Given the description of an element on the screen output the (x, y) to click on. 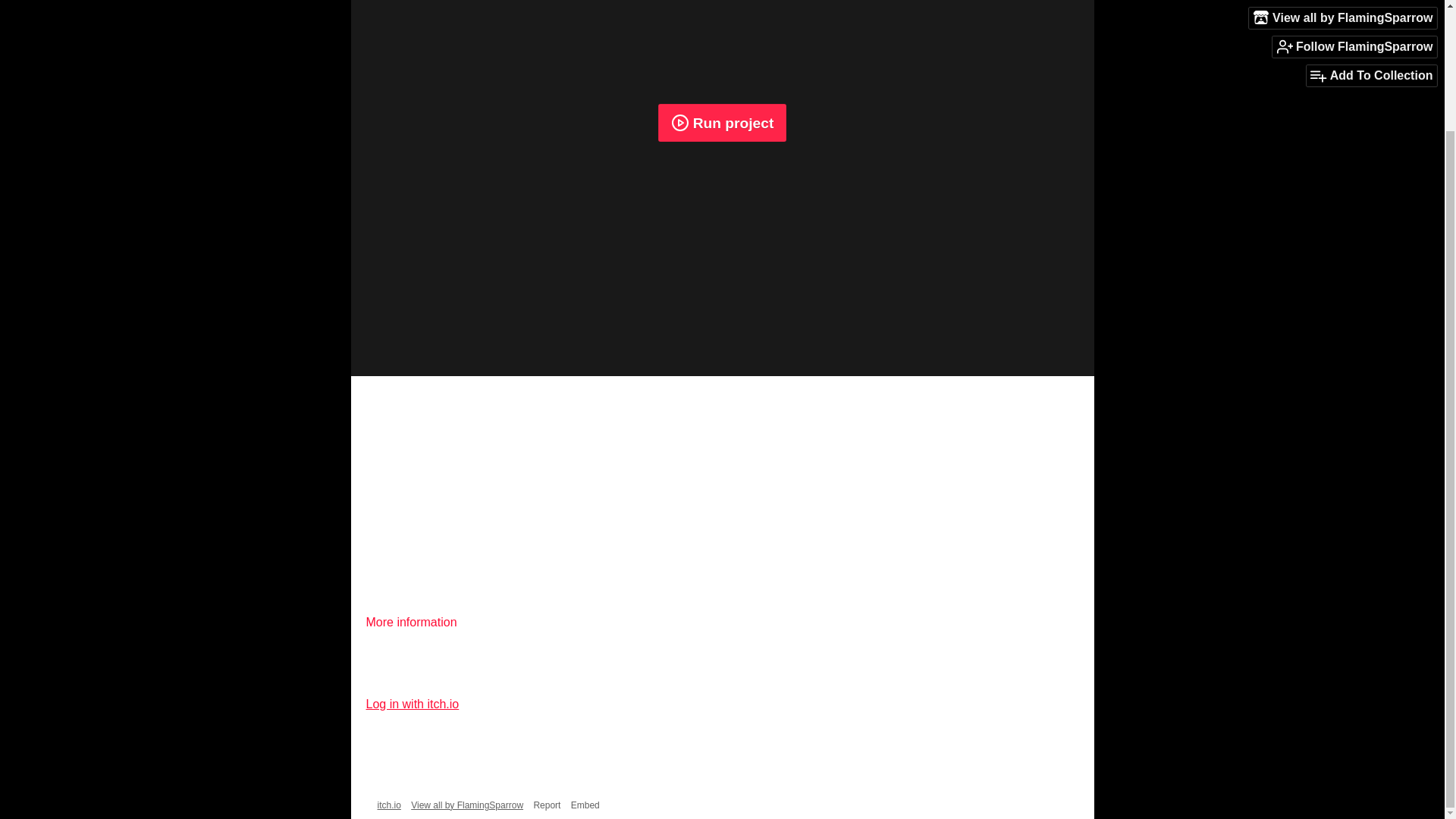
Log in with itch.io (411, 703)
Free (1076, 805)
itch.io (389, 805)
Report (546, 805)
View all by FlamingSparrow (466, 805)
Run project (722, 122)
Games (989, 805)
More information (416, 621)
Educational (1035, 805)
Embed (584, 805)
